Given the description of an element on the screen output the (x, y) to click on. 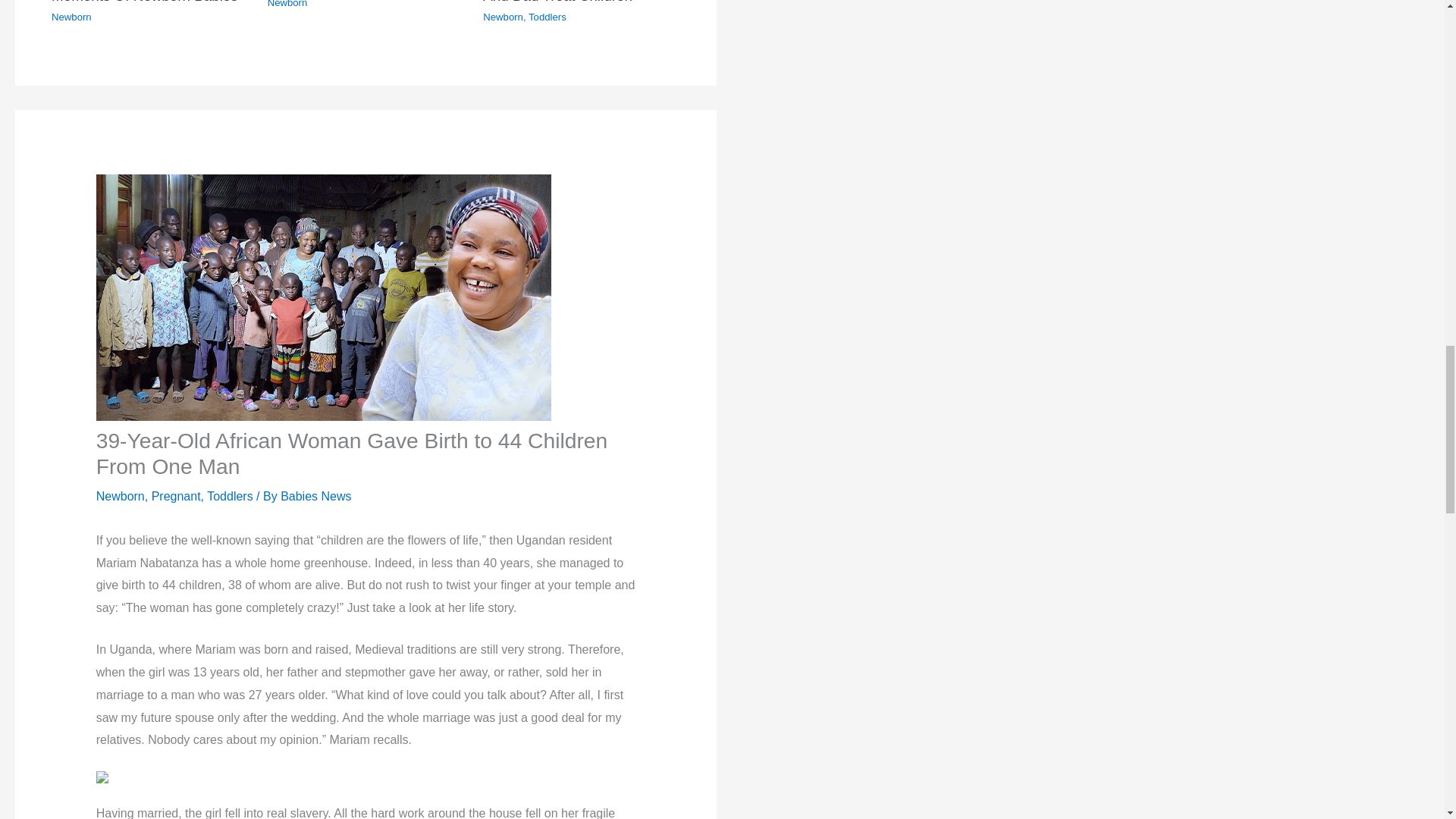
Toddlers (547, 16)
Newborn (287, 4)
Newborn (70, 16)
Newborn (502, 16)
View all posts by Babies News (315, 495)
